Given the description of an element on the screen output the (x, y) to click on. 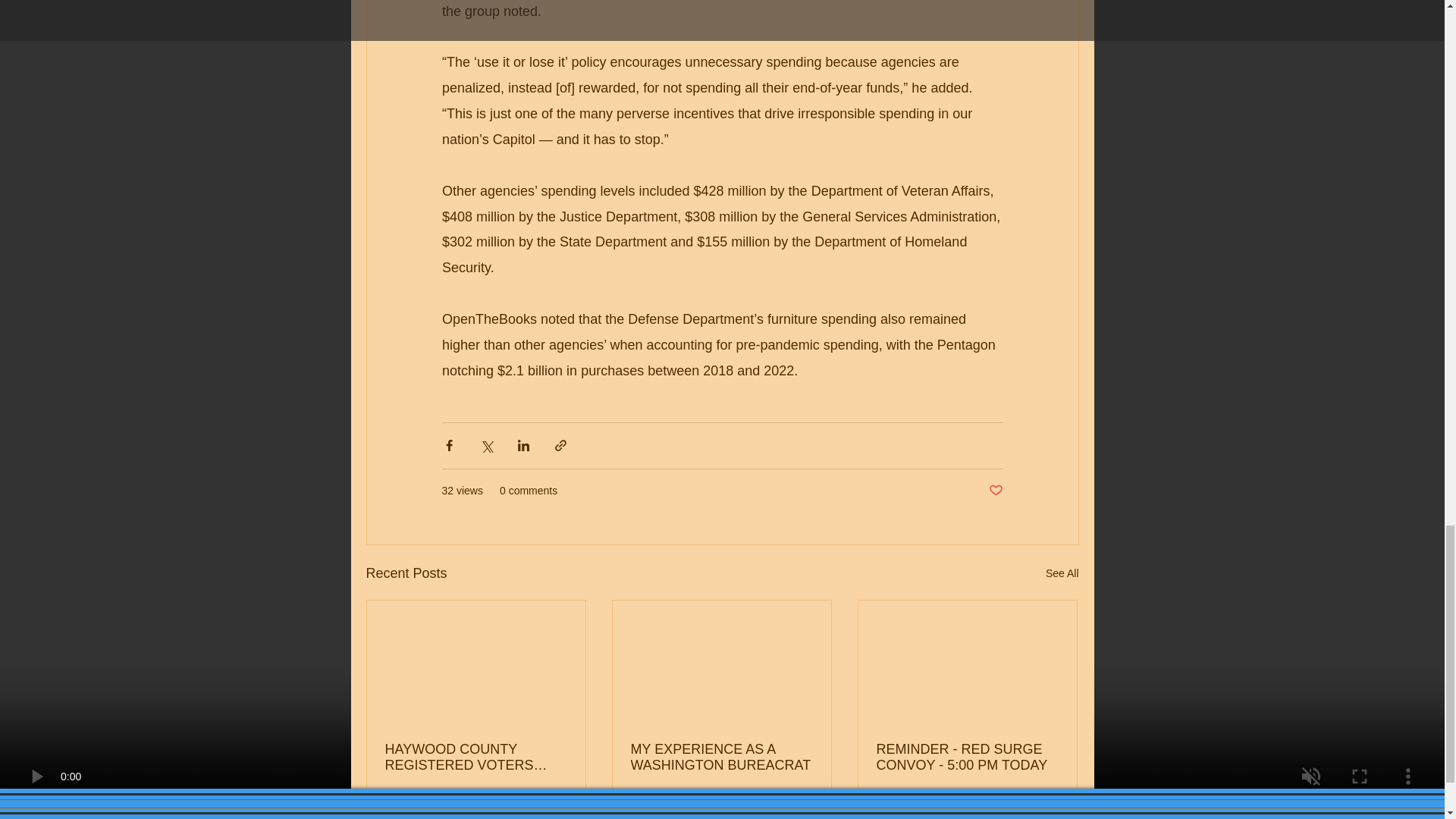
Post not marked as liked (558, 810)
Post not marked as liked (800, 810)
0 (1050, 810)
Post not marked as liked (926, 810)
HAYWOOD COUNTY REGISTERED VOTERS ALERT (995, 490)
0 (476, 757)
REMINDER - RED SURGE CONVOY - 5:00 PM TODAY (440, 810)
0 (967, 757)
See All (685, 810)
